Given the description of an element on the screen output the (x, y) to click on. 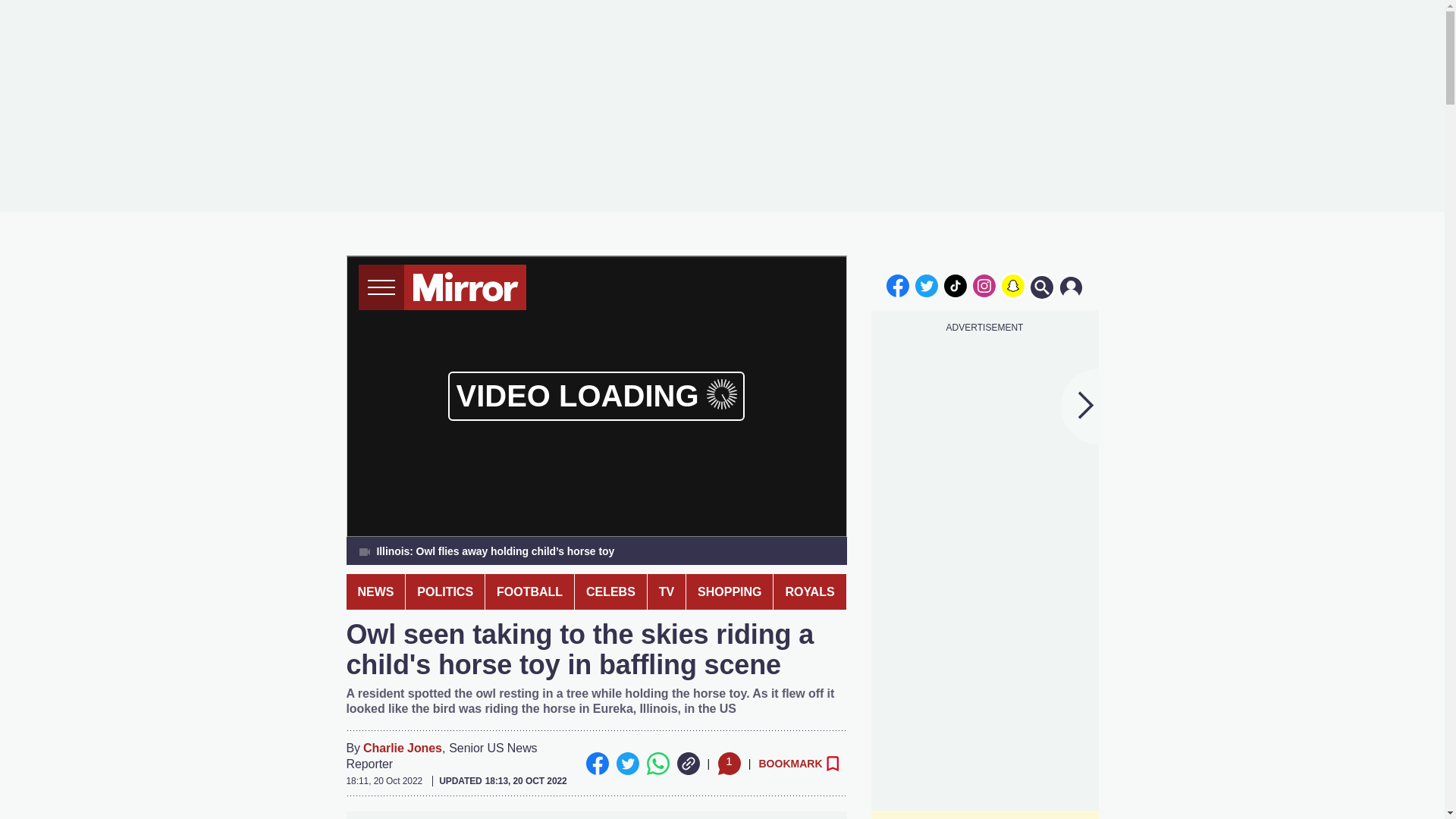
twitter (926, 285)
Twitter (627, 763)
Facebook (596, 763)
instagram (984, 285)
facebook (897, 285)
tiktok (955, 285)
snapchat (1012, 285)
